Given the description of an element on the screen output the (x, y) to click on. 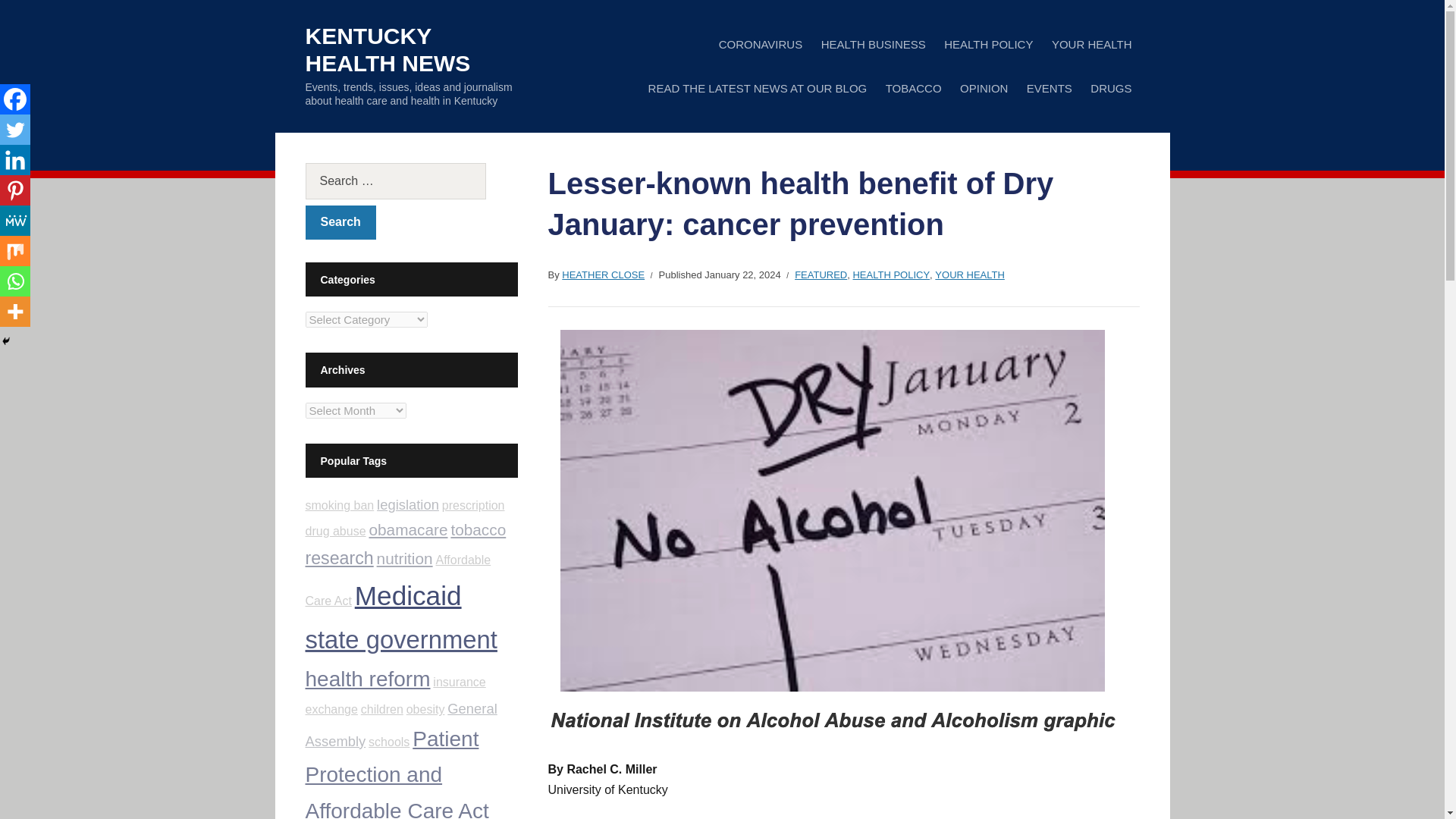
HEALTH POLICY (987, 44)
Linkedin (15, 159)
Search (339, 222)
YOUR HEALTH (1091, 44)
Whatsapp (15, 281)
OPINION (983, 88)
Facebook (15, 99)
CORONAVIRUS (761, 44)
READ THE LATEST NEWS AT OUR BLOG (757, 88)
EVENTS (1049, 88)
Twitter (15, 129)
Pinterest (15, 190)
HEALTH POLICY (890, 275)
Mix (15, 250)
HEATHER CLOSE (603, 275)
